Given the description of an element on the screen output the (x, y) to click on. 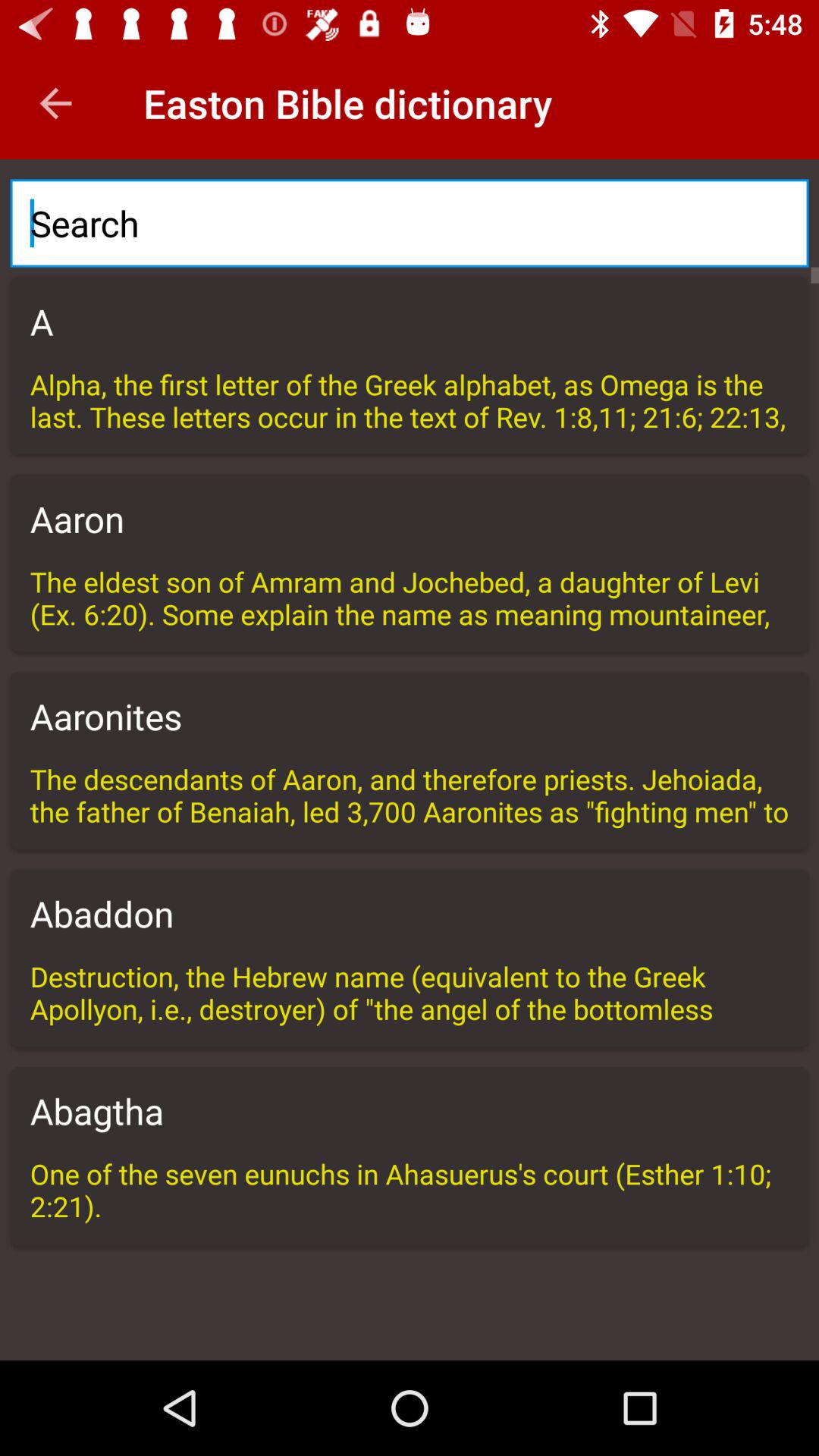
select item below destruction the hebrew (409, 1110)
